Given the description of an element on the screen output the (x, y) to click on. 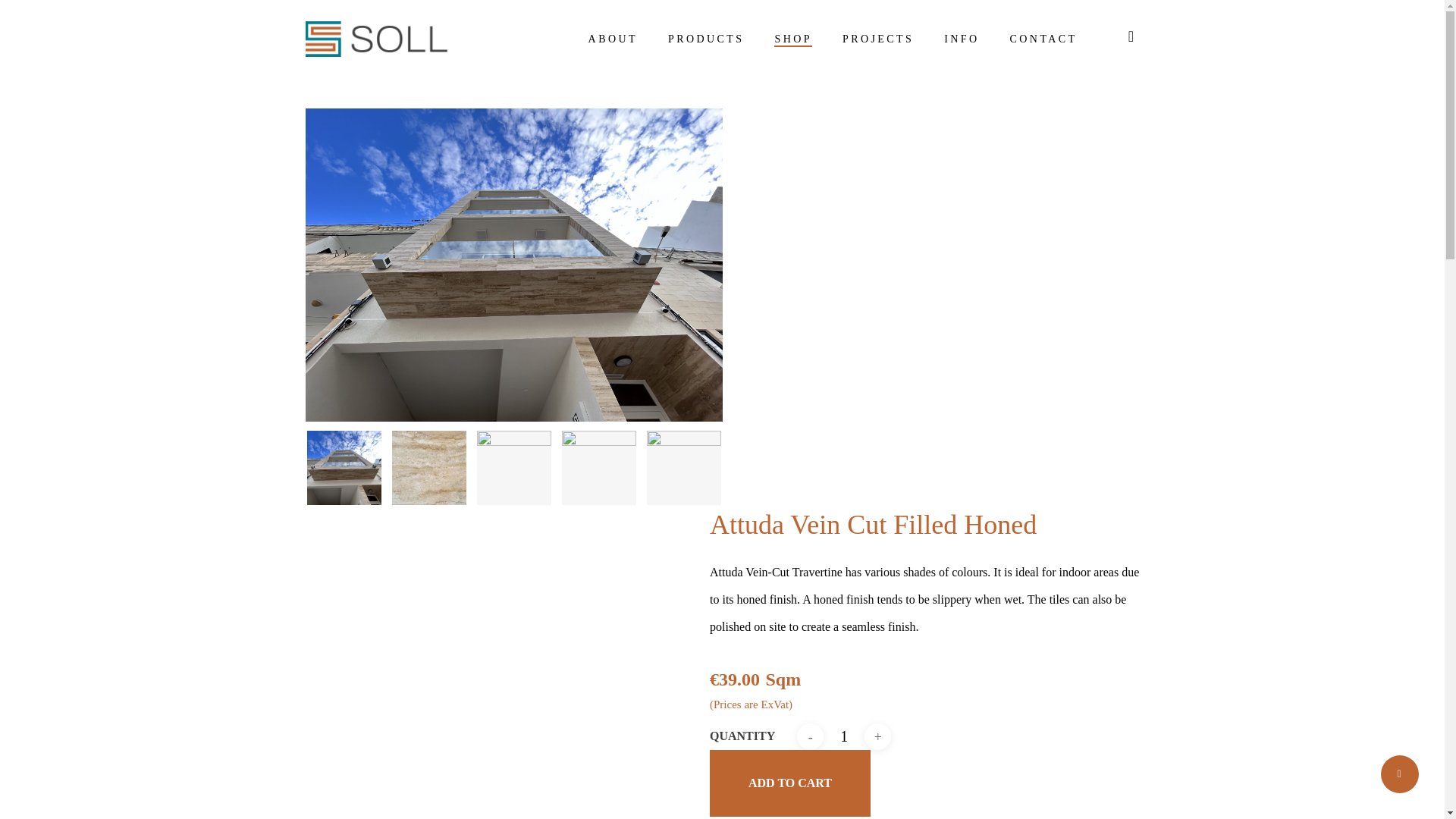
1 (844, 736)
PRODUCTS (706, 38)
PROJECTS (878, 38)
ADD TO CART (790, 783)
CONTACT (1043, 38)
- (810, 736)
INFO (960, 38)
SHOP (792, 38)
ABOUT (612, 38)
